Given the description of an element on the screen output the (x, y) to click on. 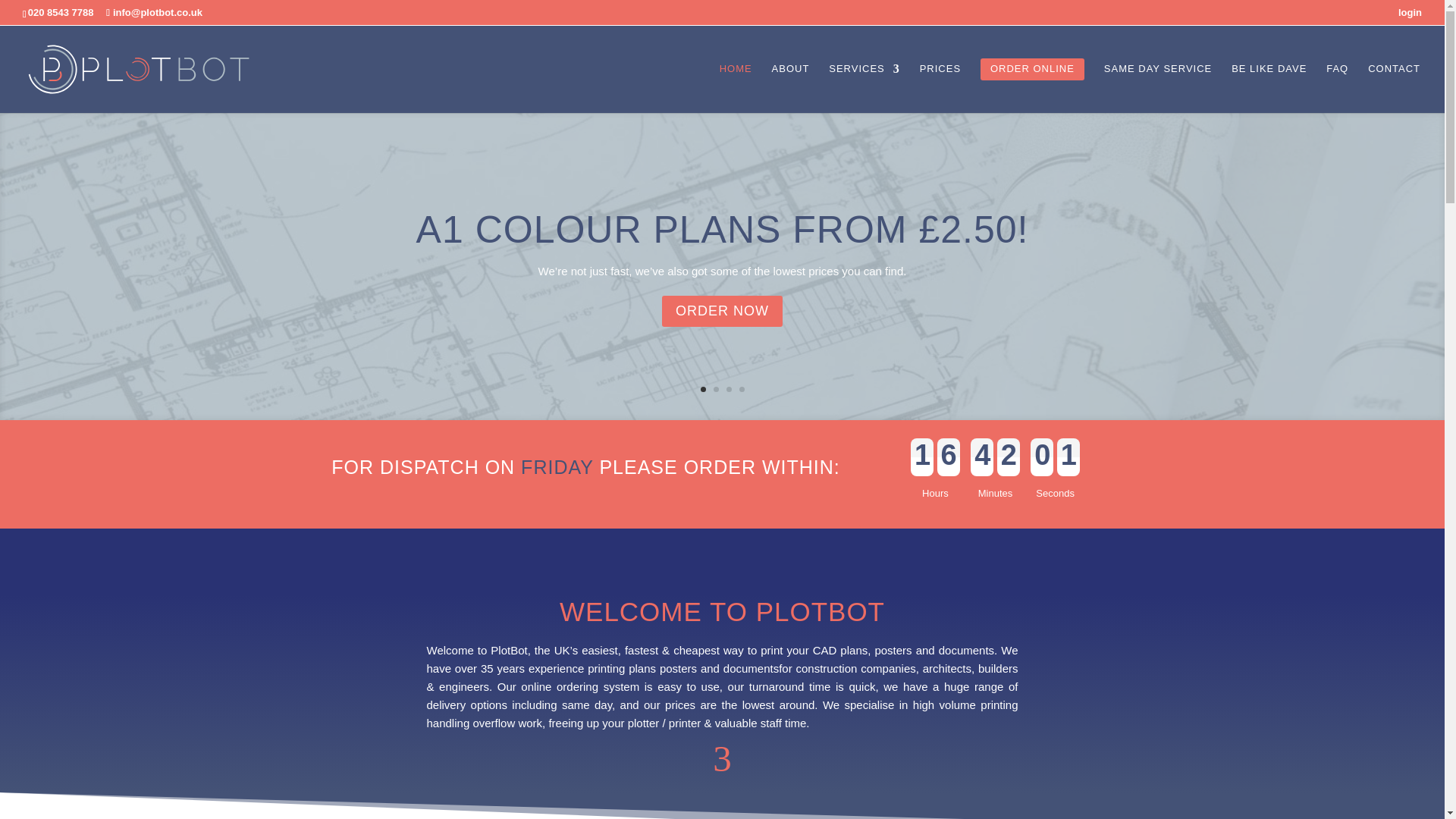
ORDER NOW (722, 314)
PRICES (940, 85)
SAME DAY SERVICE (1157, 85)
SERVICES (863, 85)
ORDER ONLINE (1031, 85)
BE LIKE DAVE (1268, 85)
login (1409, 16)
CONTACT (1394, 85)
